Given the description of an element on the screen output the (x, y) to click on. 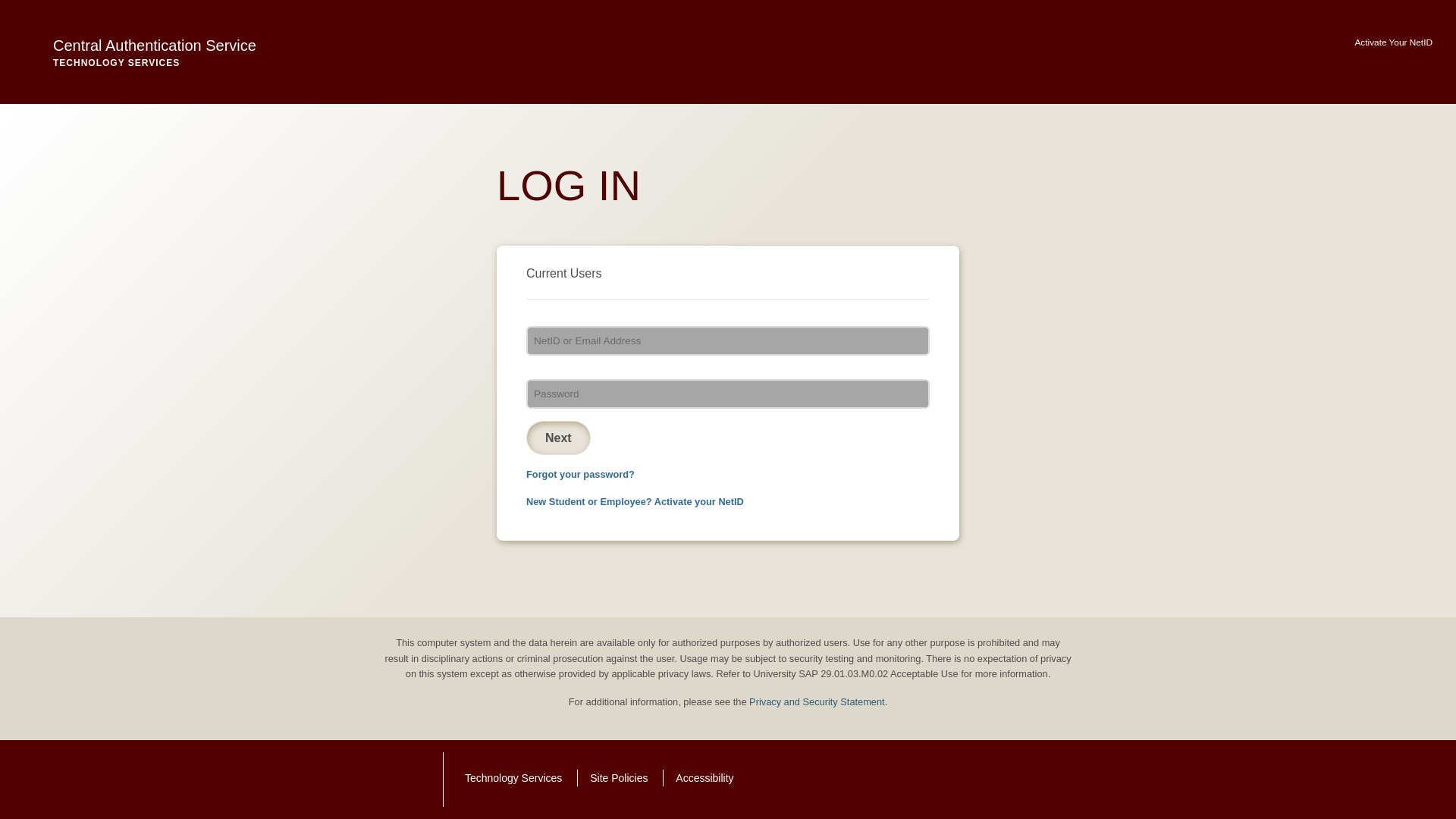
Privacy and Security Statement (817, 701)
Activate Your NetID (1393, 43)
Central Authentication Service Home (133, 51)
Next (558, 437)
Technology Services (513, 777)
Accessibility (133, 51)
Forgot your password? (704, 777)
Site Policies (579, 473)
New Student or Employee? Activate your NetID (618, 777)
